Given the description of an element on the screen output the (x, y) to click on. 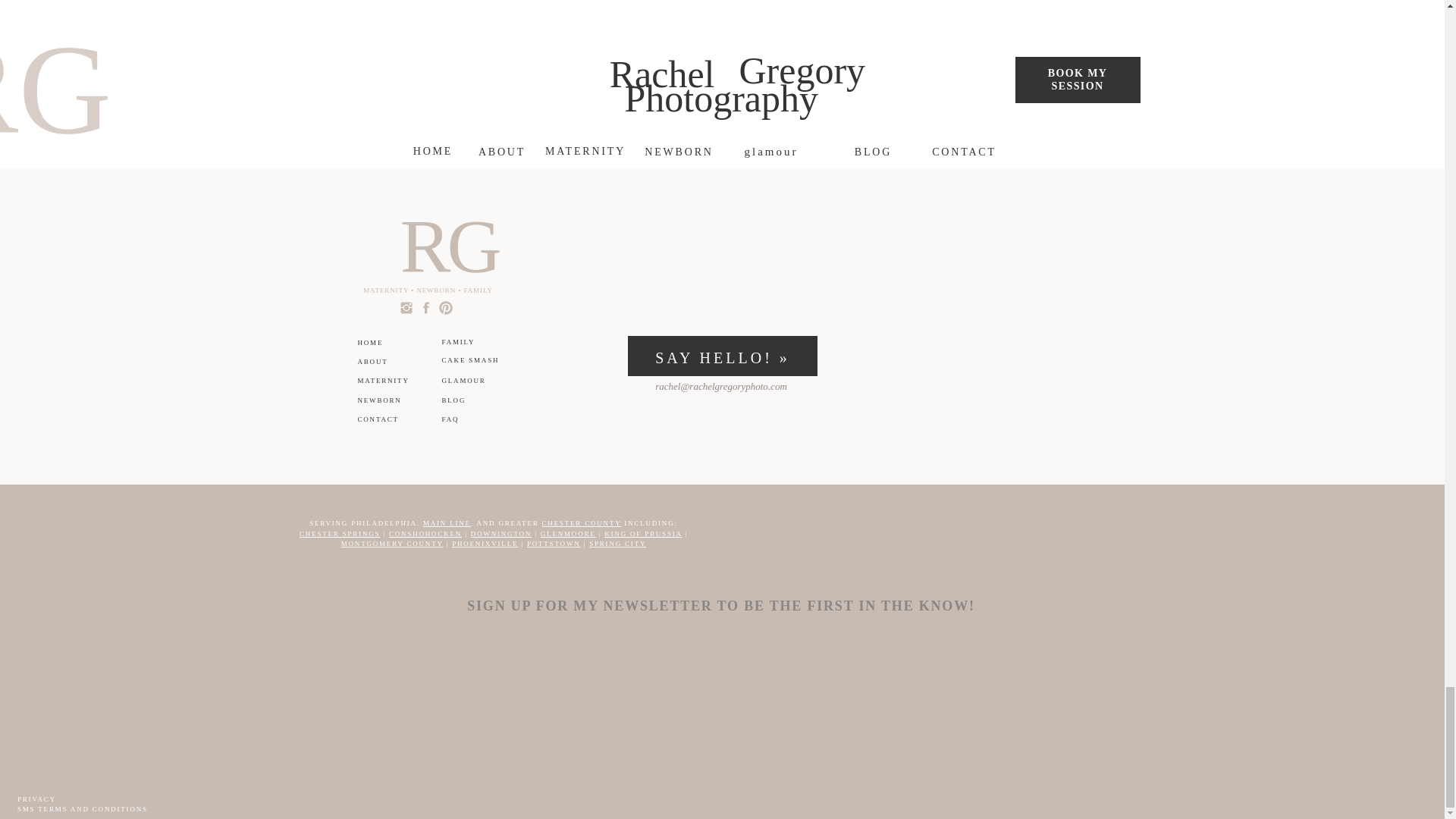
CONTACT (385, 420)
